Given the description of an element on the screen output the (x, y) to click on. 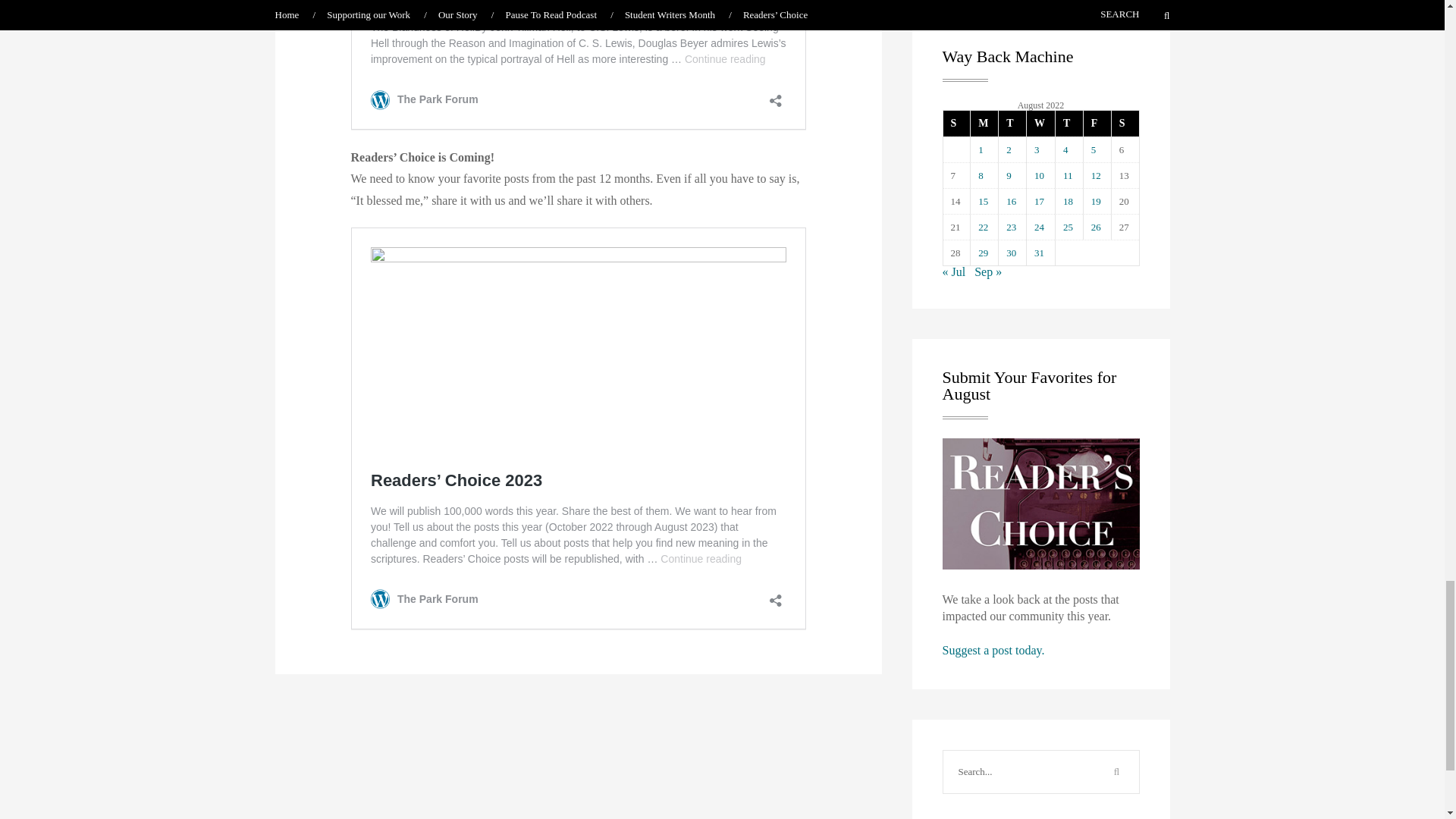
Sunday (957, 123)
Search... (1018, 772)
Monday (983, 123)
Wednesday (1040, 123)
Friday (1096, 123)
Thursday (1068, 123)
Saturday (1124, 123)
Tuesday (1011, 123)
